Given the description of an element on the screen output the (x, y) to click on. 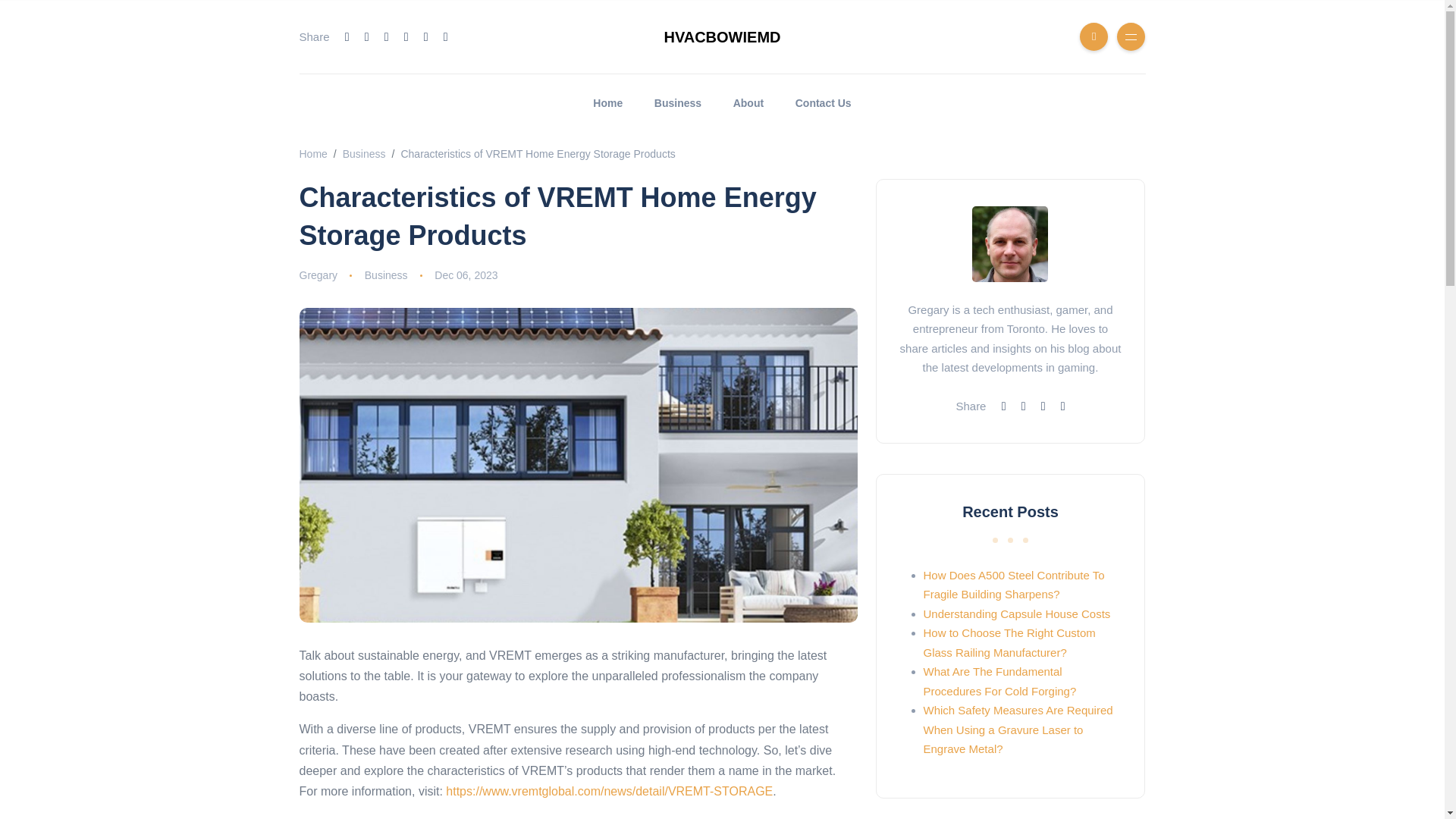
Gregary (317, 275)
HVACBOWIEMD (721, 36)
Business (363, 153)
Business (363, 153)
About (747, 103)
Contact Us (822, 103)
How Does A500 Steel Contribute To Fragile Building Sharpens? (1014, 584)
Hvacbowiemd (312, 153)
About (747, 103)
Understanding Capsule House Costs (1016, 613)
Home (312, 153)
Business (386, 275)
How to Choose The Right Custom Glass Railing Manufacturer? (1009, 642)
Home (608, 103)
